Given the description of an element on the screen output the (x, y) to click on. 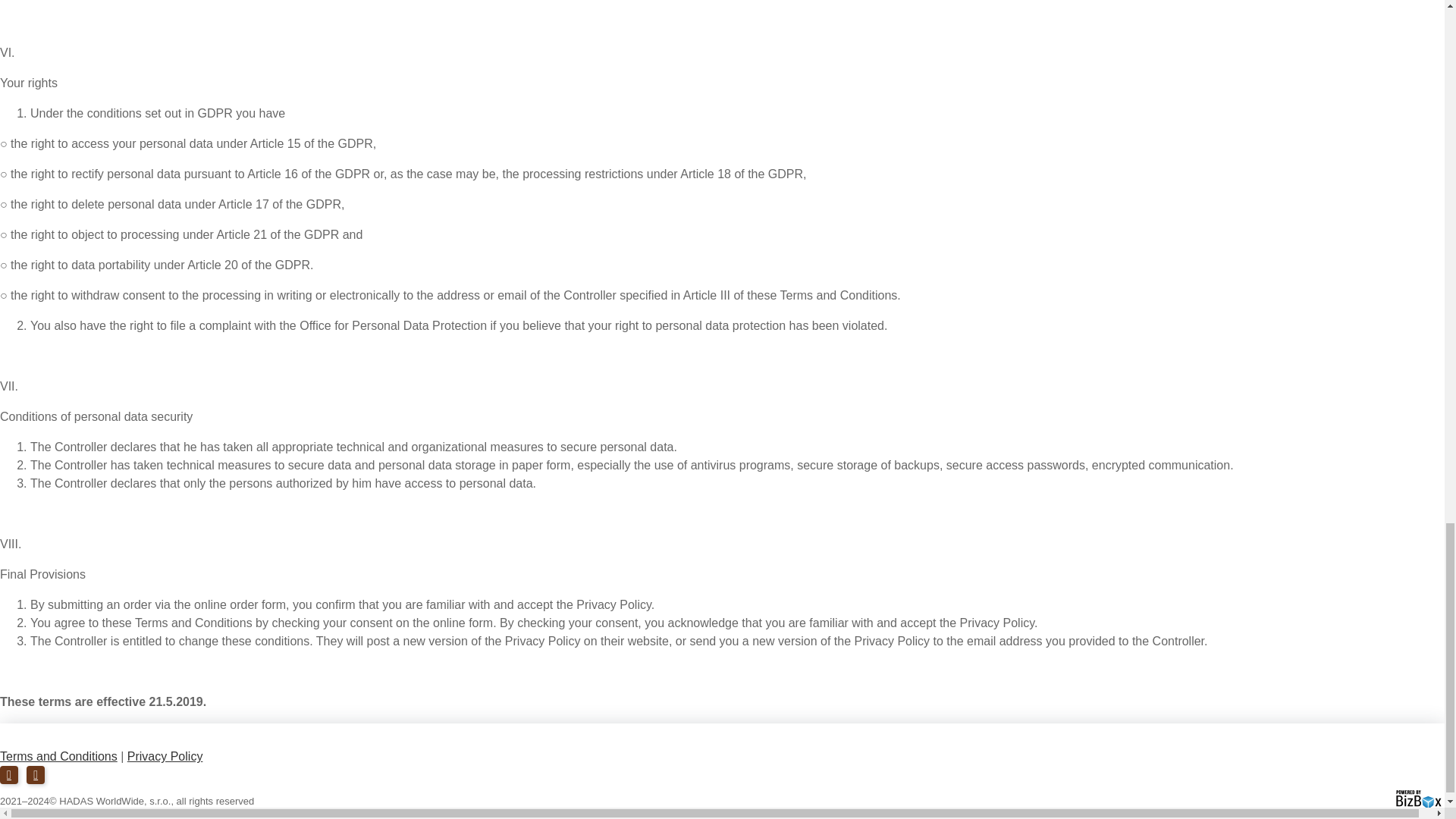
Privacy Policy (165, 756)
Powered by BizBox (1418, 799)
Terms and Conditions (58, 756)
Instagram (35, 774)
Facebook (8, 774)
